Given the description of an element on the screen output the (x, y) to click on. 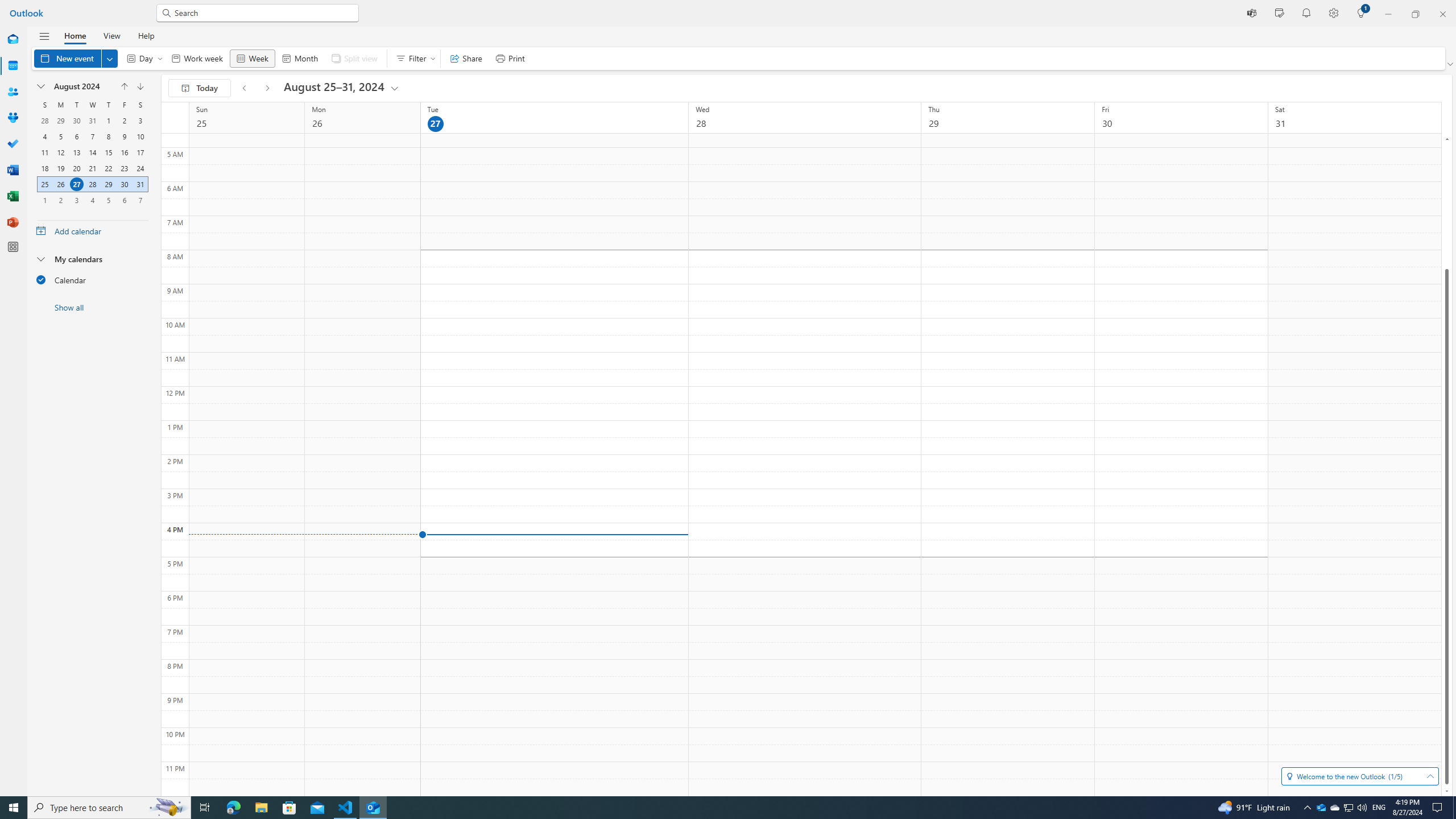
24, August, 2024 (140, 168)
1, September, 2024 (44, 200)
29, July, 2024 (59, 120)
Day (141, 58)
15, August, 2024 (108, 151)
16, August, 2024 (124, 151)
6, August, 2024 (75, 136)
21, August, 2024 (92, 168)
4, September, 2024 (92, 200)
2, September, 2024 (60, 200)
Split view (354, 58)
Sunday (44, 104)
30, July, 2024 (75, 120)
